Given the description of an element on the screen output the (x, y) to click on. 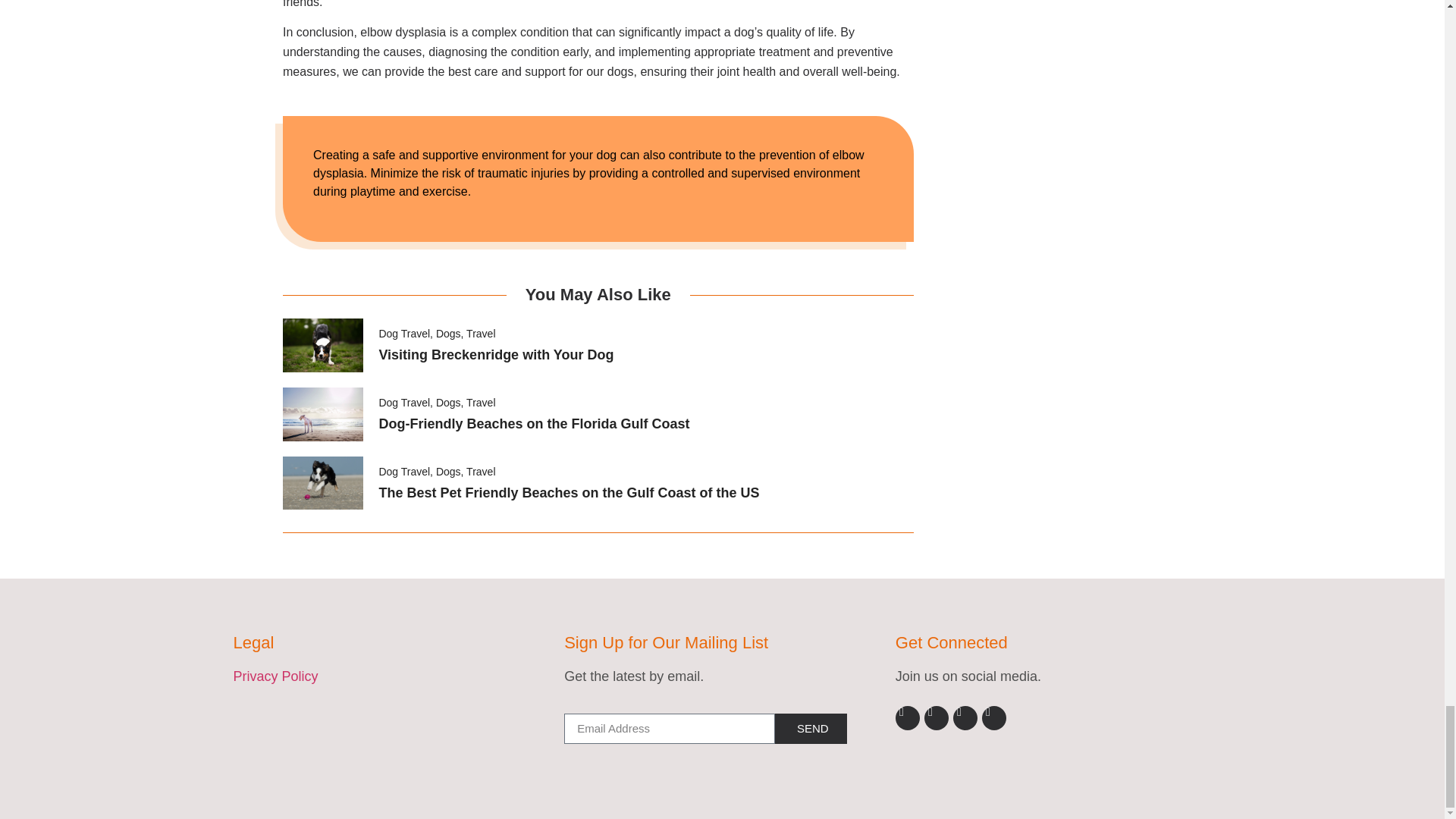
Visiting Breckenridge with Your Dog (495, 354)
The Best Pet Friendly Beaches on the Gulf Coast of the US (568, 492)
Dog-Friendly Beaches on the Florida Gulf Coast (533, 423)
